Given the description of an element on the screen output the (x, y) to click on. 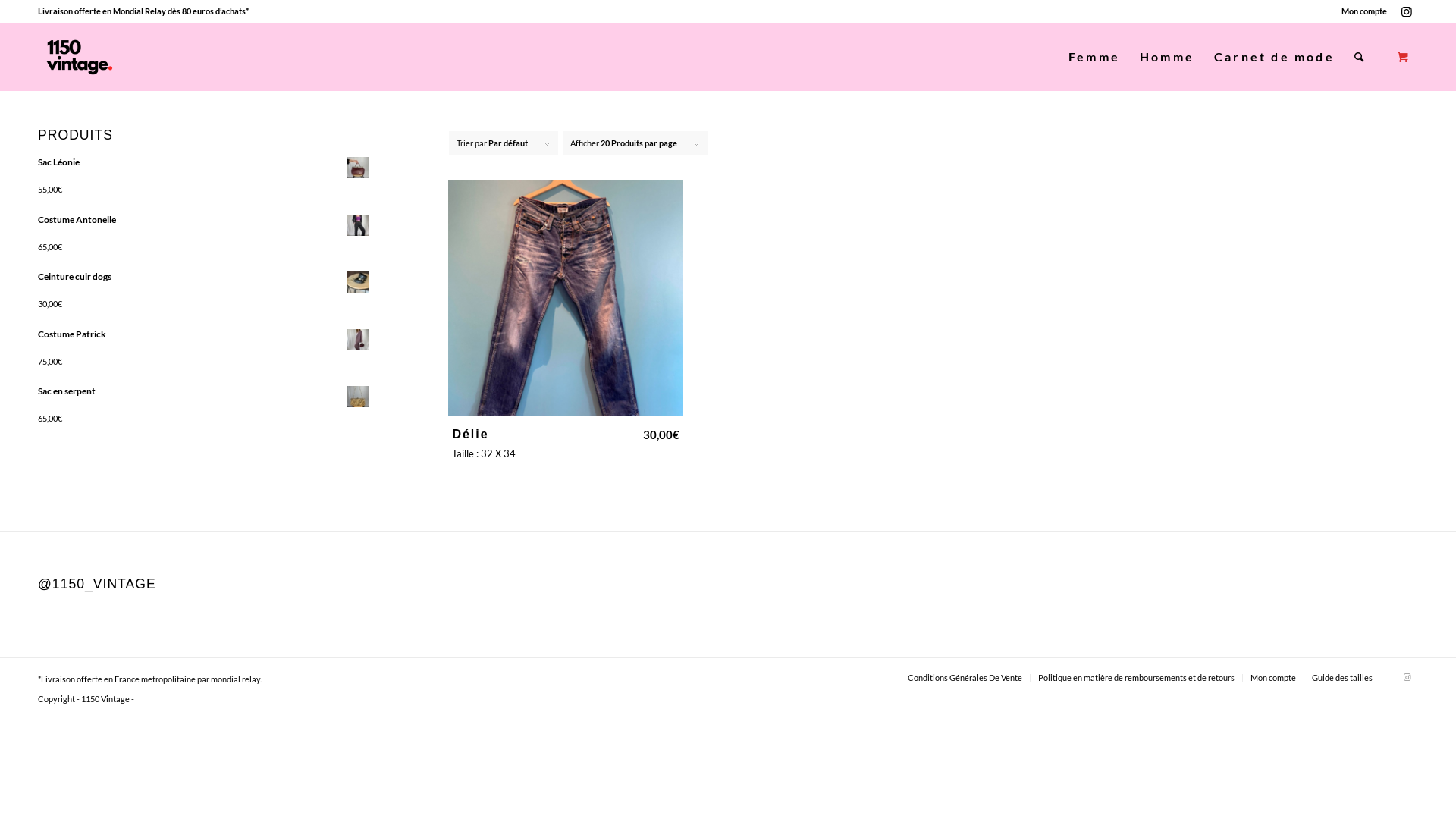
Mon compte Element type: text (1363, 10)
Instagram Element type: hover (1406, 11)
Femme Element type: text (1093, 56)
Homme Element type: text (1166, 56)
Mon compte Element type: text (1272, 677)
Costume Antonelle Element type: text (205, 225)
Guide des tailles Element type: text (1341, 677)
Ceinture cuir dogs Element type: text (205, 281)
Instagram Element type: hover (1406, 676)
Sac en serpent Element type: text (205, 396)
Costume Patrick Element type: text (205, 339)
Carnet de mode Element type: text (1274, 56)
